Given the description of an element on the screen output the (x, y) to click on. 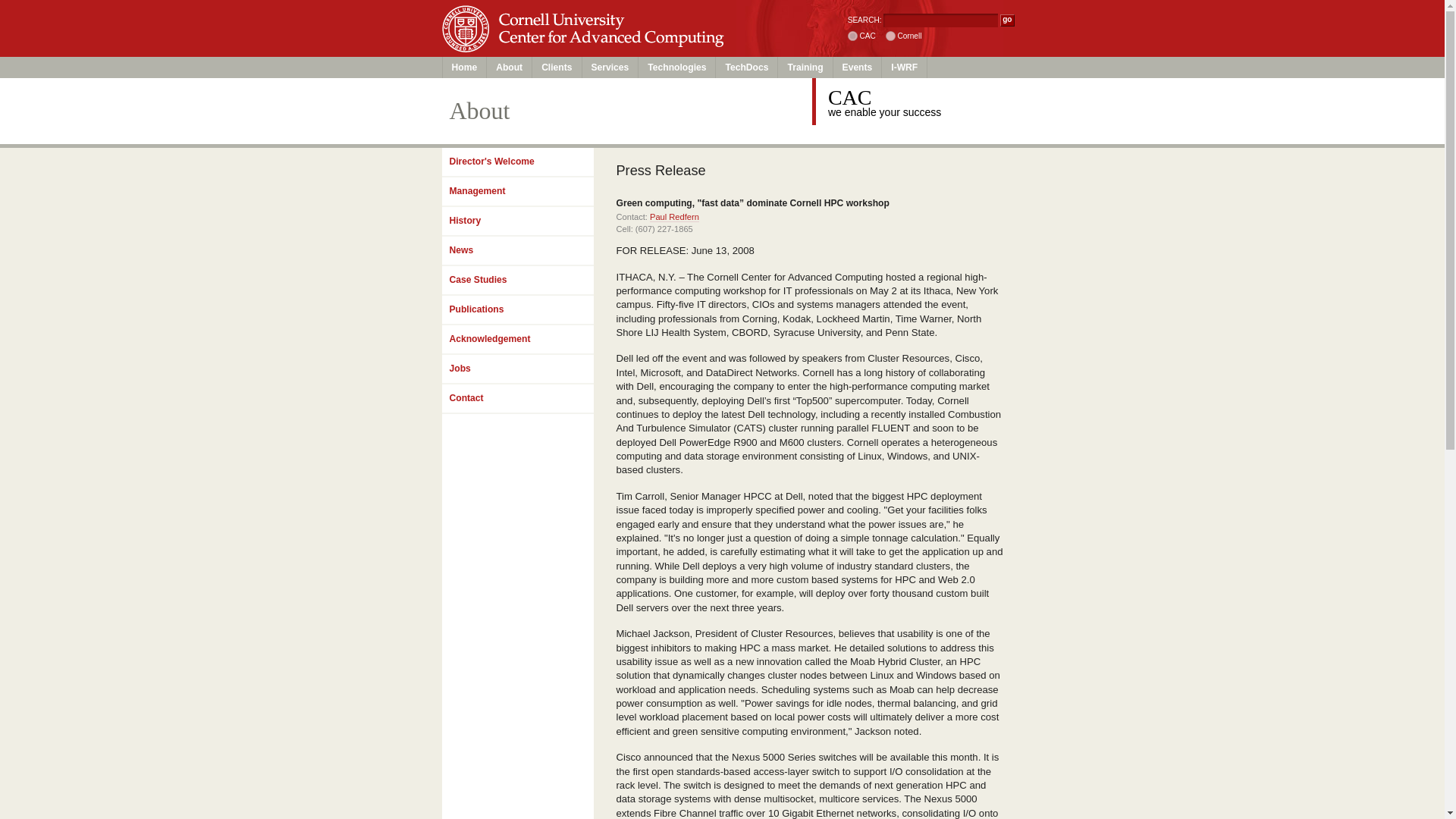
Home (464, 66)
History (516, 221)
Director's Welcome (516, 162)
I-WRF (904, 66)
Acknowledgement (516, 339)
Publications (516, 310)
About (509, 66)
www.cac.cornell.edu (852, 35)
Case Studies (516, 280)
go (1006, 20)
